Given the description of an element on the screen output the (x, y) to click on. 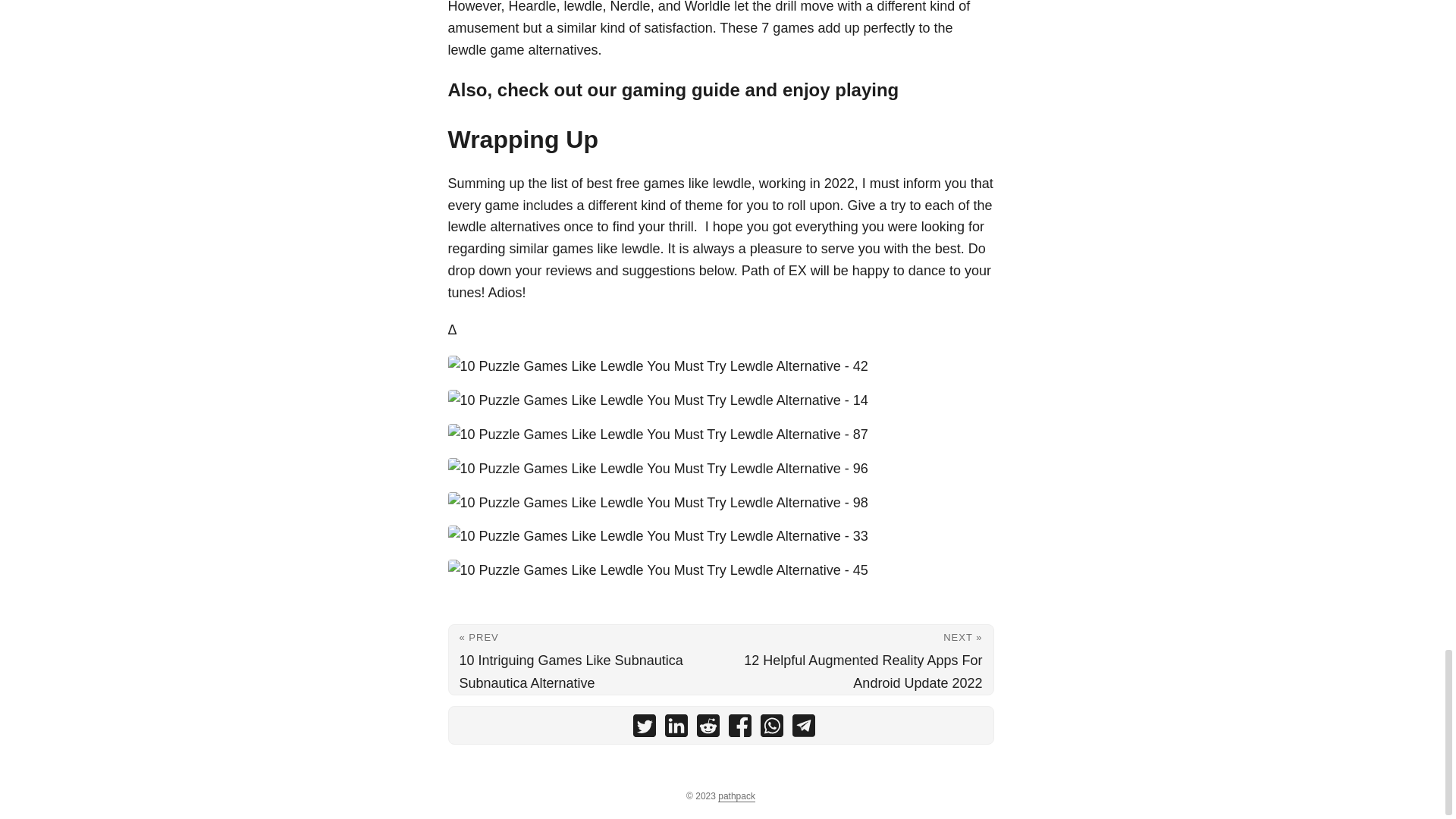
pathpack (736, 796)
